Given the description of an element on the screen output the (x, y) to click on. 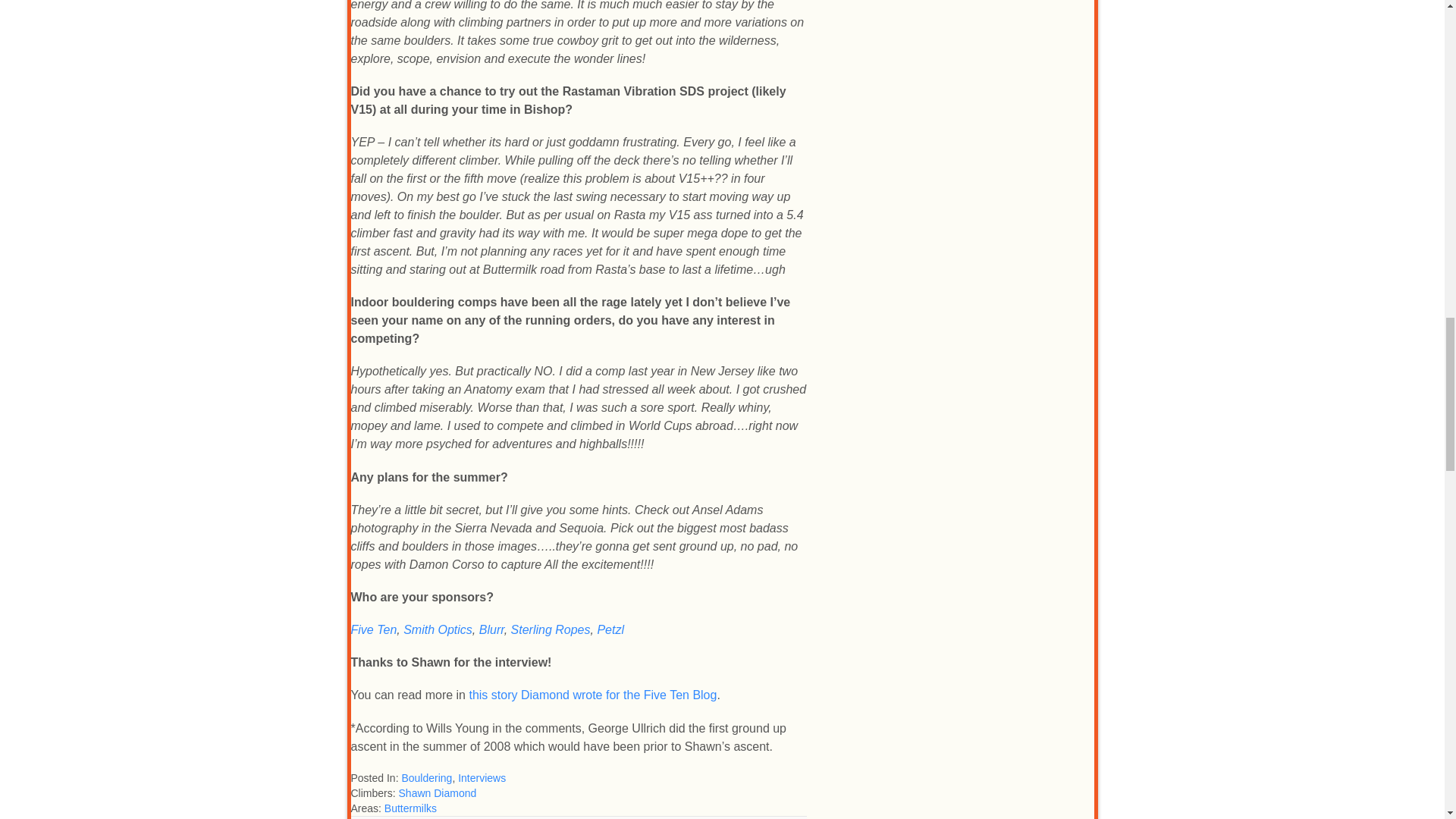
Sterling Ropes (551, 629)
Five Ten (373, 629)
this story Diamond wrote for the Five Ten Blog (592, 694)
Smith Optics (437, 629)
Blurr (491, 629)
Petzl (610, 629)
Shawn Diamond (437, 793)
Buttermilks (410, 808)
Bouldering (426, 777)
Interviews (481, 777)
